Given the description of an element on the screen output the (x, y) to click on. 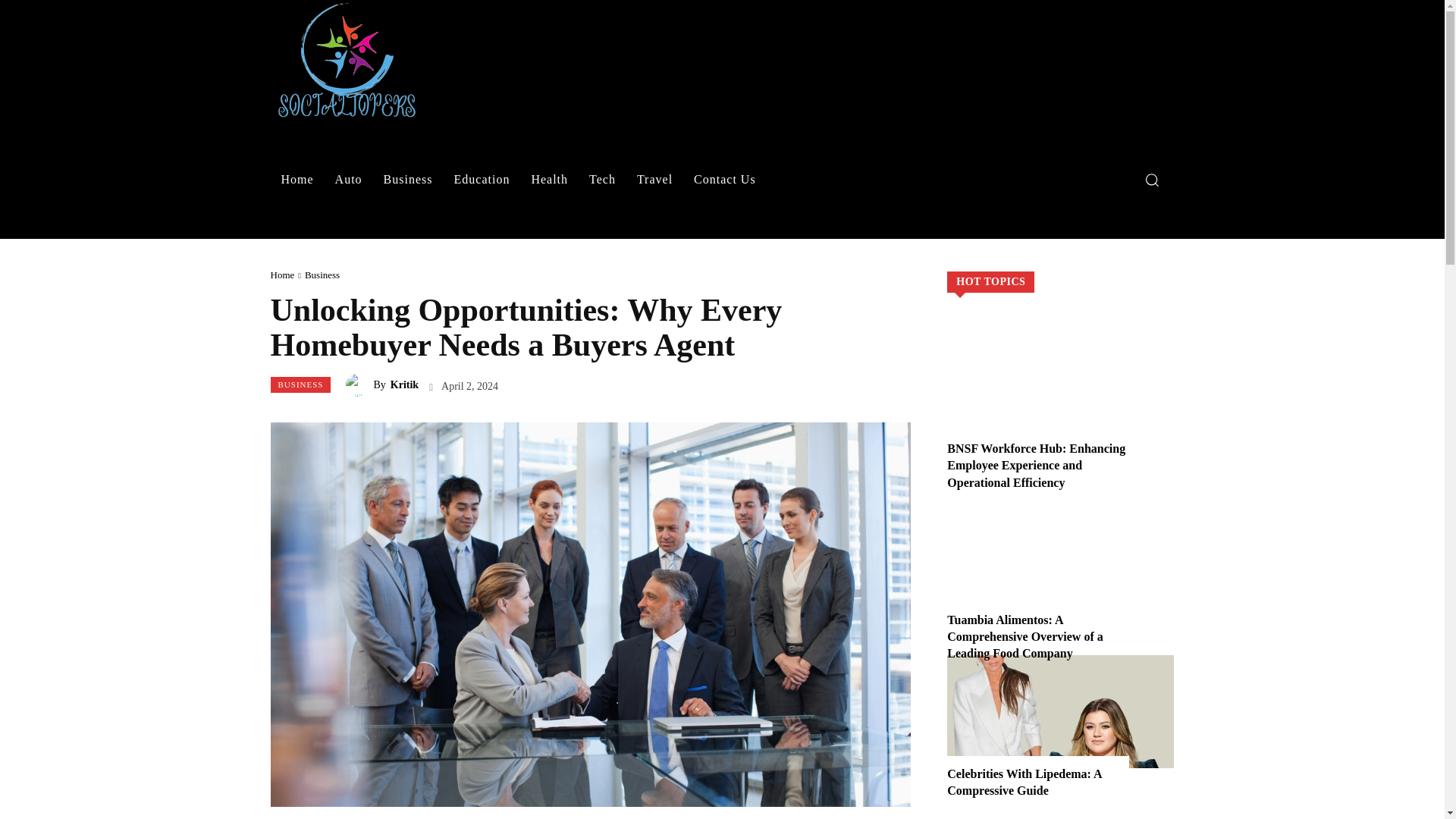
View all posts in Business (321, 274)
Celebrities With Lipedema: A Compressive Guide (1060, 712)
Celebrities With Lipedema: A Compressive Guide (1024, 781)
Contact Us (724, 179)
Education (482, 179)
Tech (602, 179)
Business (321, 274)
Home (281, 274)
BUSINESS (299, 384)
Travel (654, 179)
Kritik (359, 384)
Health (548, 179)
